Given the description of an element on the screen output the (x, y) to click on. 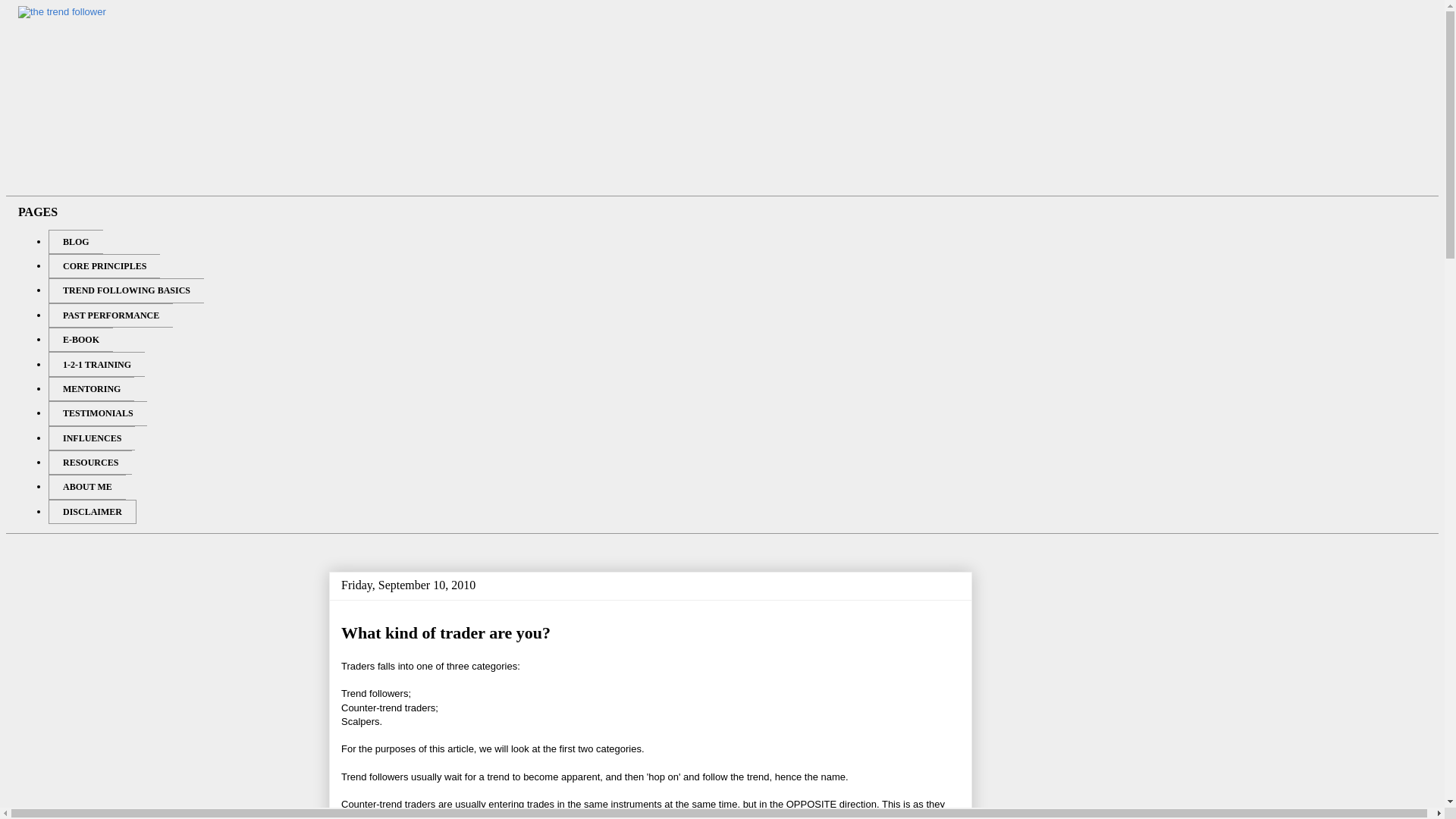
BLOG (75, 241)
INFLUENCES (91, 437)
1-2-1 TRAINING (96, 363)
TREND FOLLOWING BASICS (125, 290)
MENTORING (90, 388)
RESOURCES (90, 462)
TESTIMONIALS (97, 413)
ABOUT ME (86, 486)
DISCLAIMER (92, 511)
E-BOOK (80, 339)
PAST PERFORMANCE (110, 315)
CORE PRINCIPLES (104, 265)
